Given the description of an element on the screen output the (x, y) to click on. 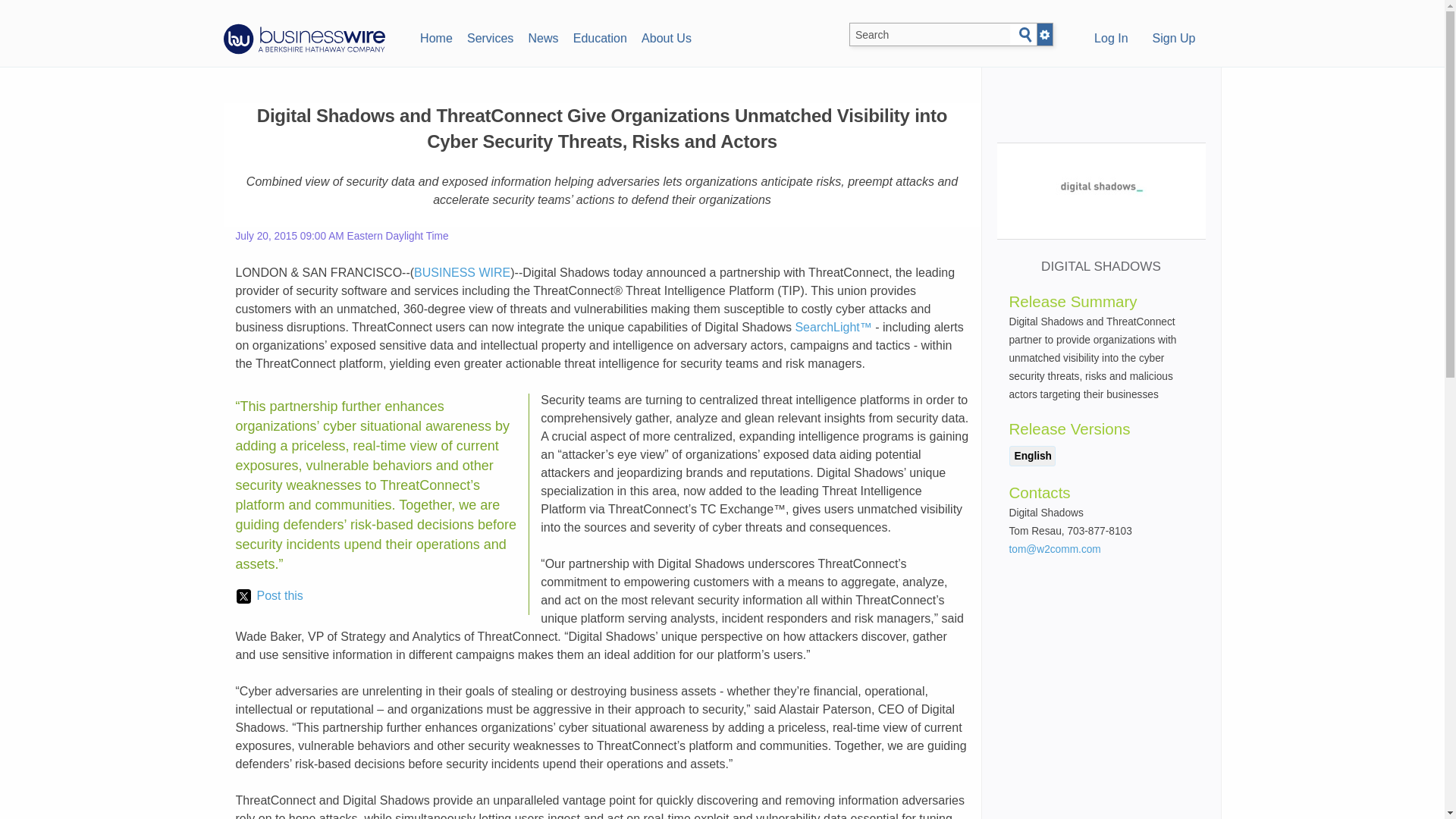
About Us (665, 36)
Services (490, 36)
BUSINESS WIRE (462, 272)
News (543, 36)
Home (436, 36)
Search BusinessWire.com (930, 34)
Search (1025, 34)
Education (599, 36)
Post this (269, 595)
